Given the description of an element on the screen output the (x, y) to click on. 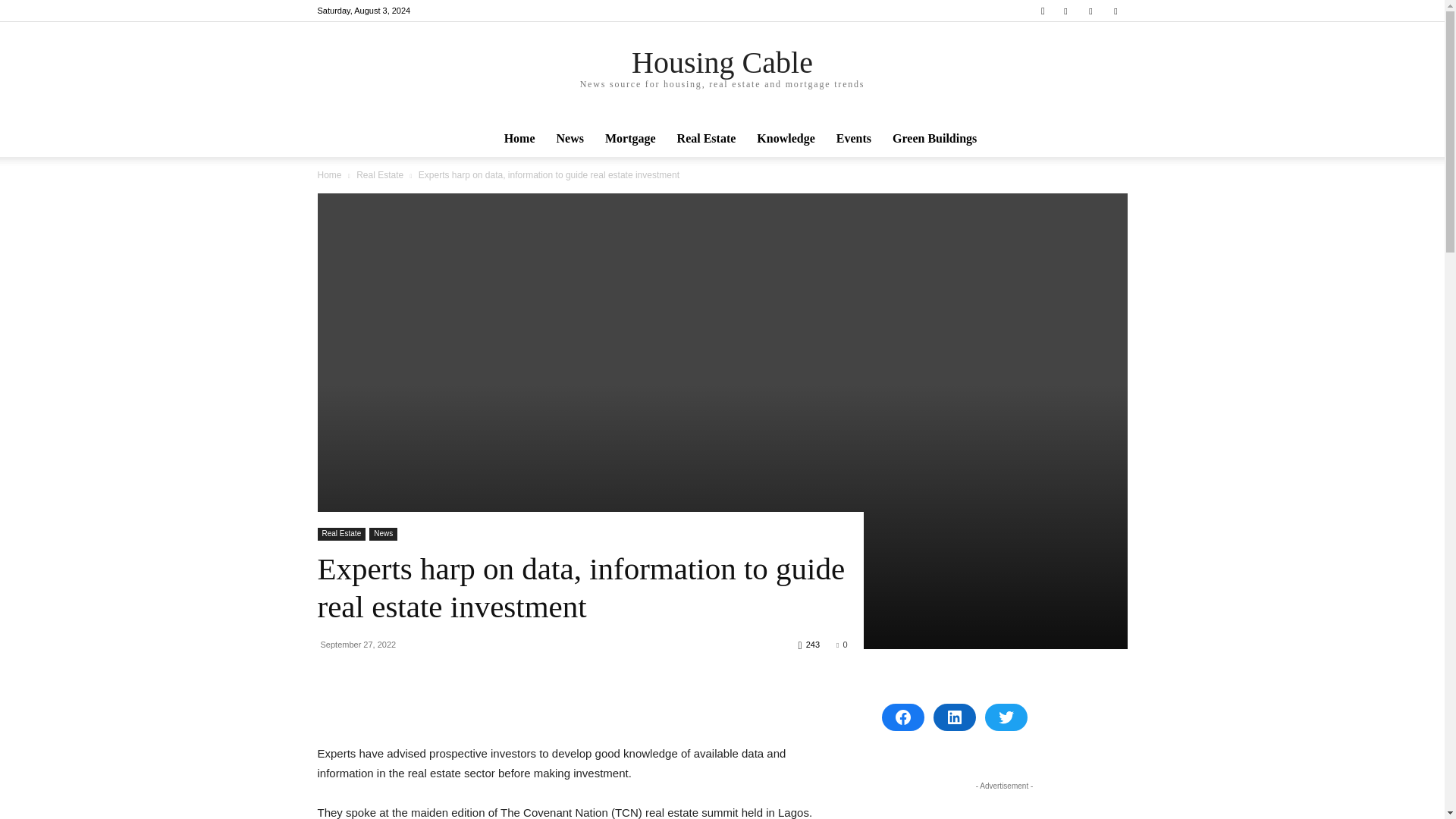
News (570, 138)
Home (519, 138)
Linkedin (1090, 10)
Mortgage (630, 138)
Twitter (1114, 10)
Search (1085, 64)
Facebook (1065, 10)
